Given the description of an element on the screen output the (x, y) to click on. 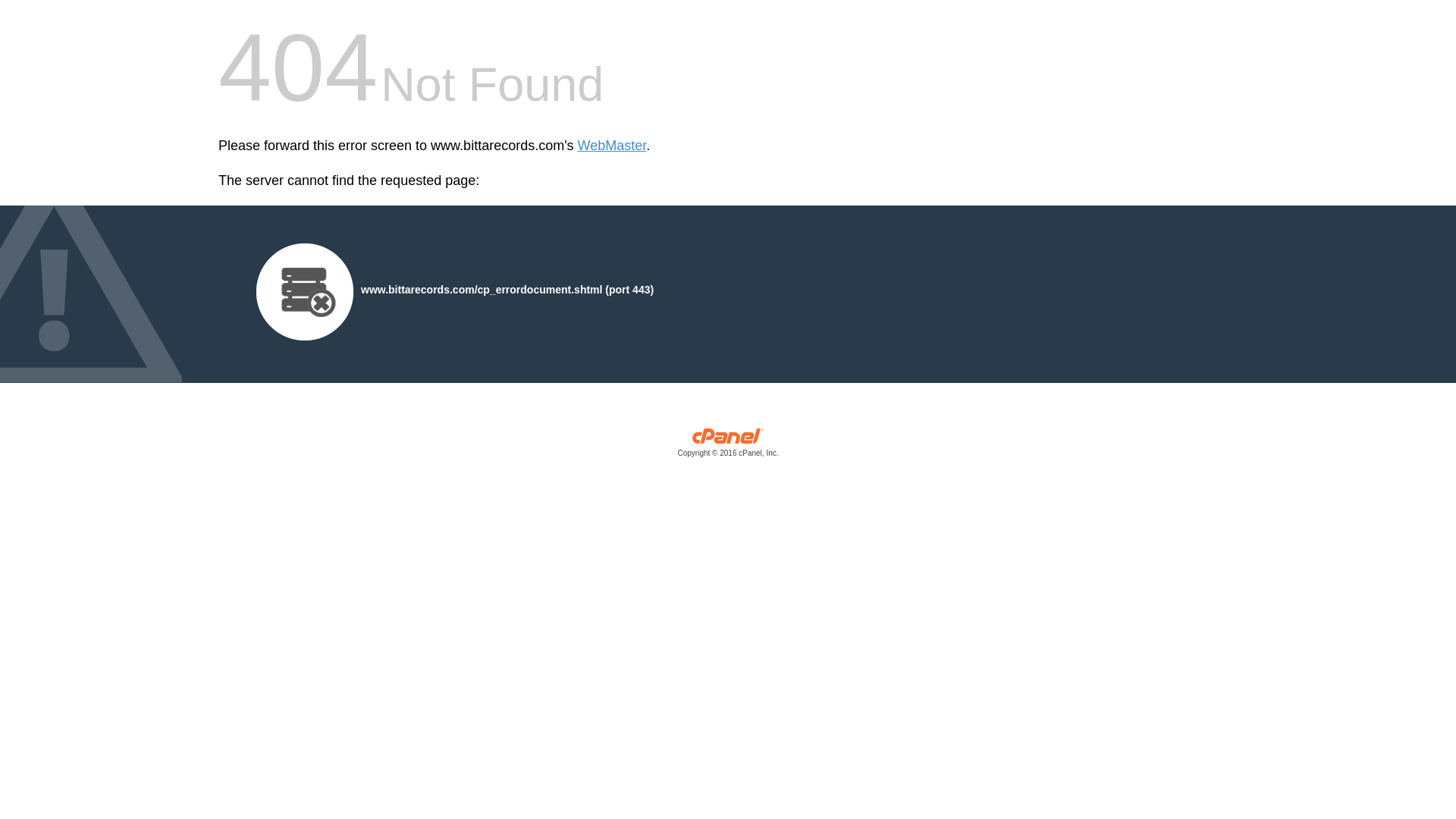
cPanel, Inc. (727, 446)
WebMaster (612, 145)
